Given the description of an element on the screen output the (x, y) to click on. 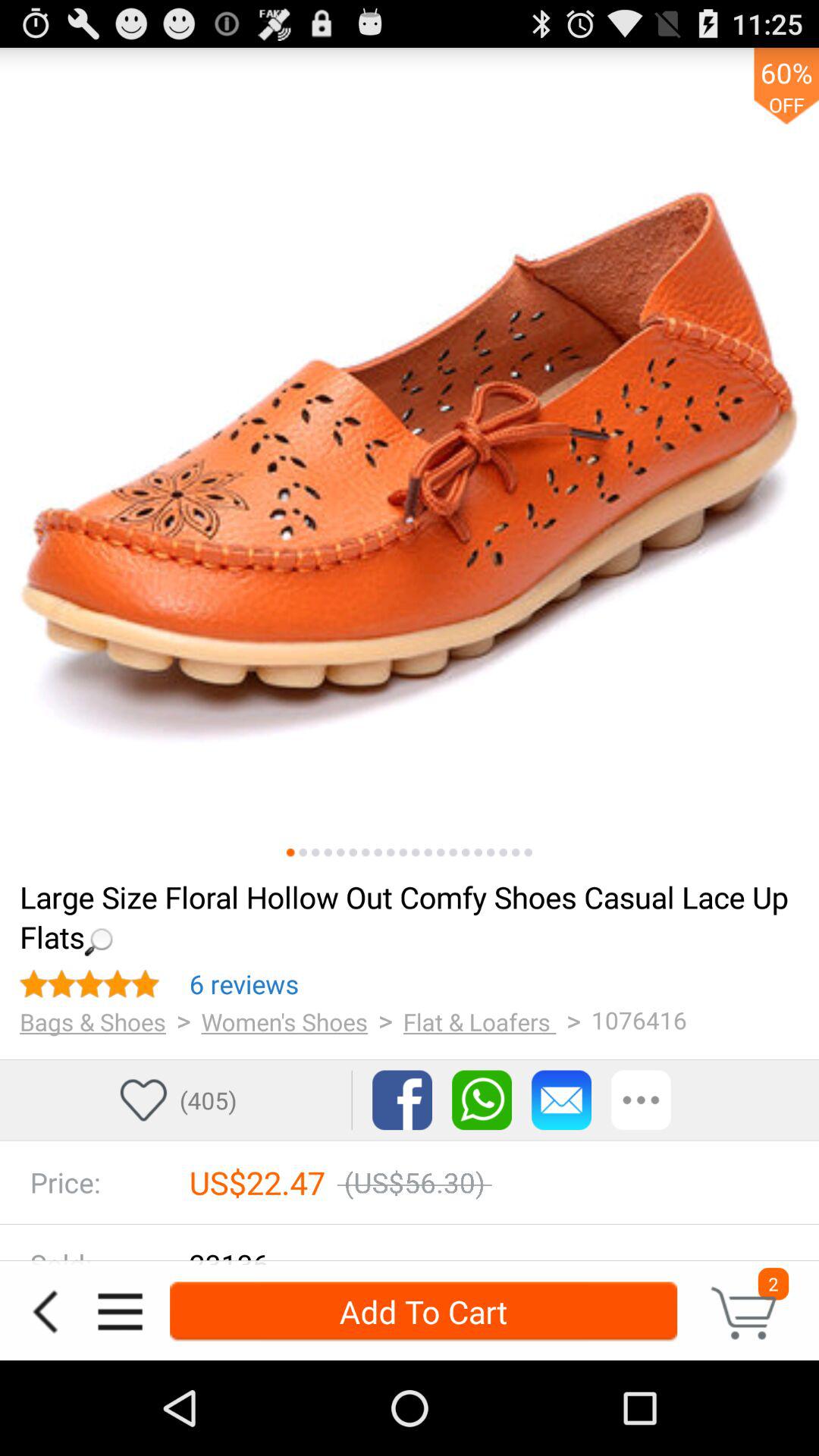
show image (478, 852)
